Given the description of an element on the screen output the (x, y) to click on. 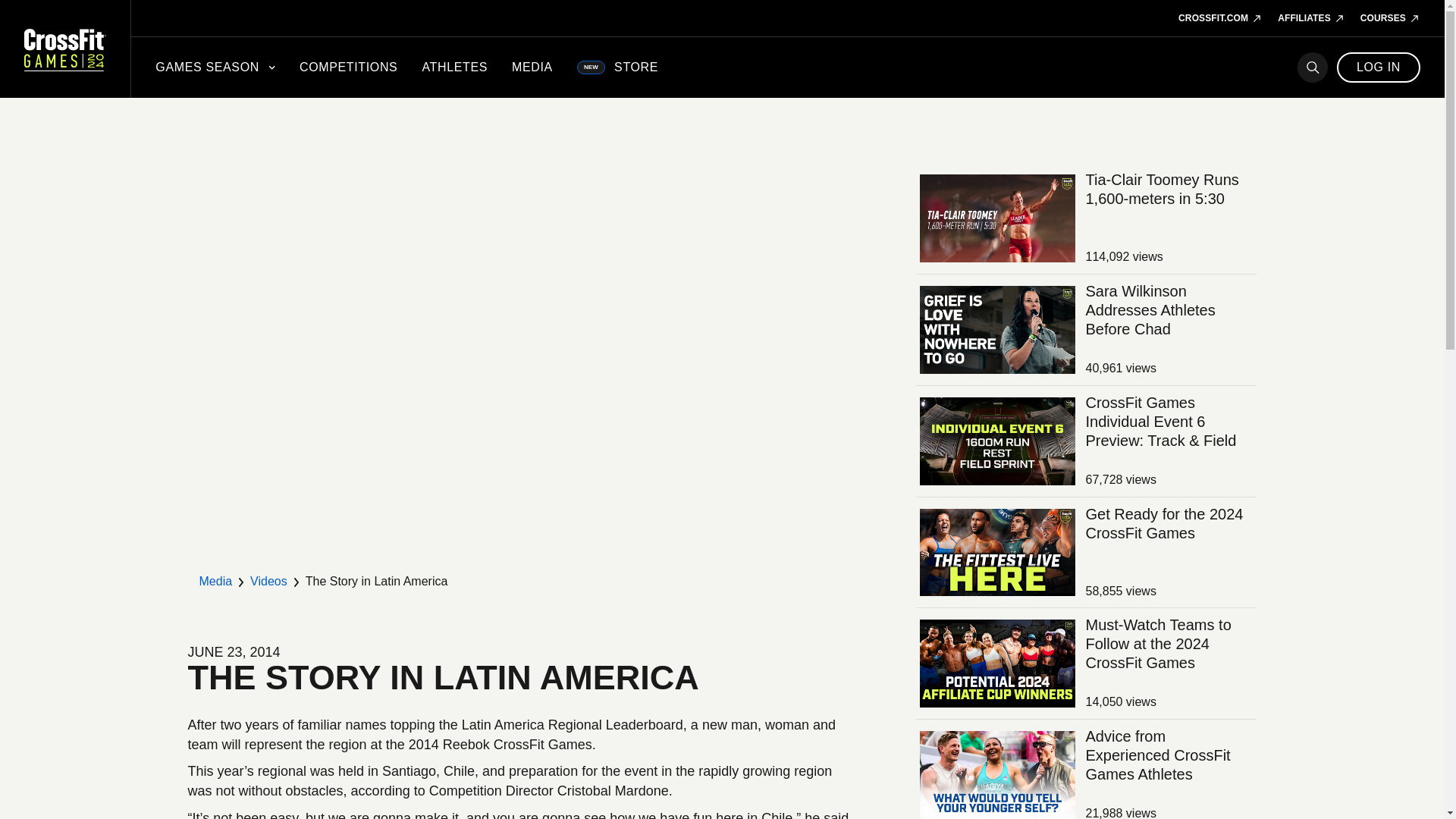
CrossFit Games (65, 49)
AFFILIATES (1311, 18)
CROSSFIT.COM (1219, 18)
COURSES (1390, 18)
GAMES SEASON (215, 66)
CrossFit Games Home (65, 49)
